Given the description of an element on the screen output the (x, y) to click on. 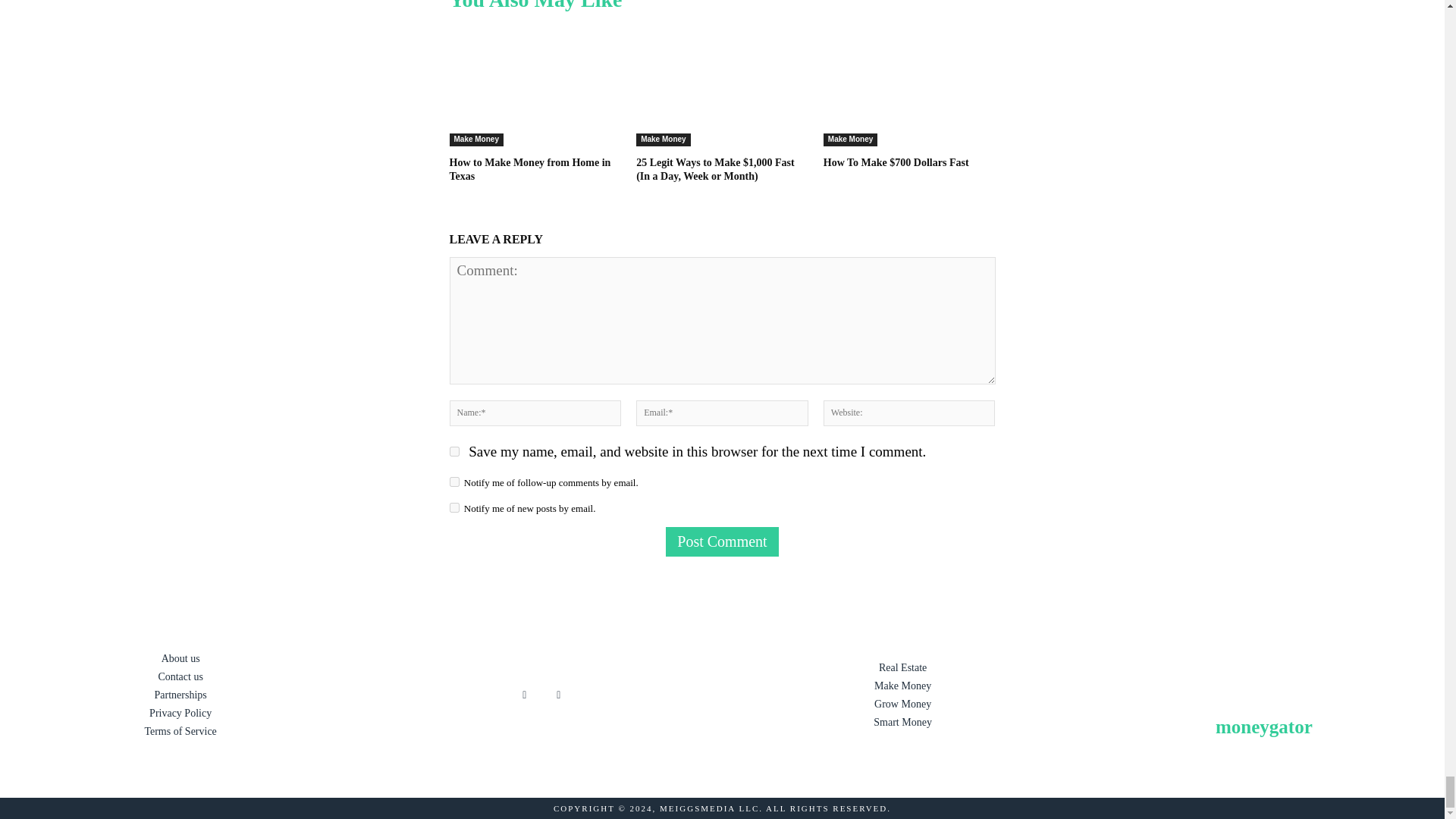
yes (453, 451)
subscribe (453, 481)
Post Comment (721, 541)
subscribe (453, 507)
